Given the description of an element on the screen output the (x, y) to click on. 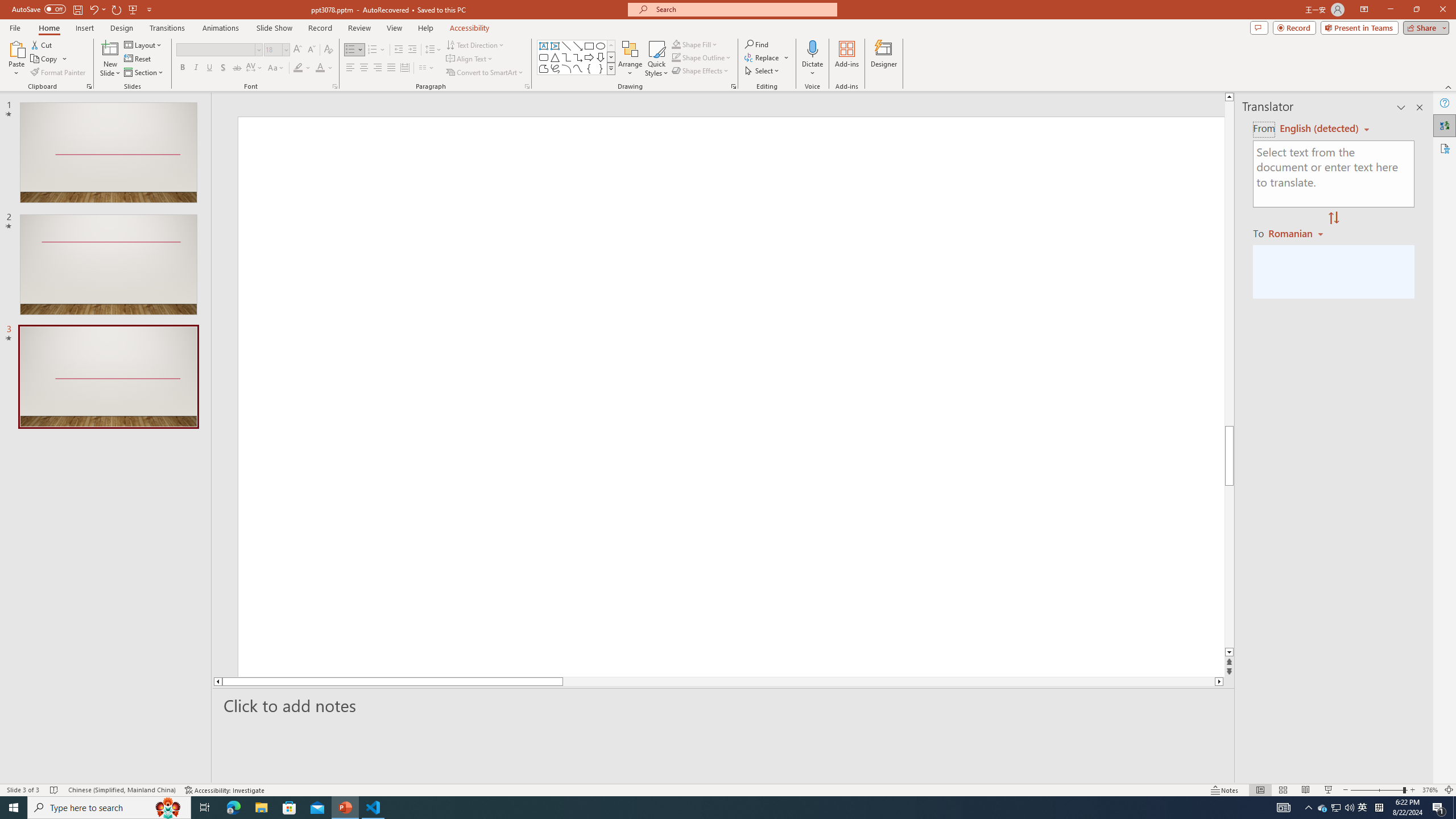
Zoom 376% (1430, 790)
Shape Fill Dark Green, Accent 2 (675, 44)
